Given the description of an element on the screen output the (x, y) to click on. 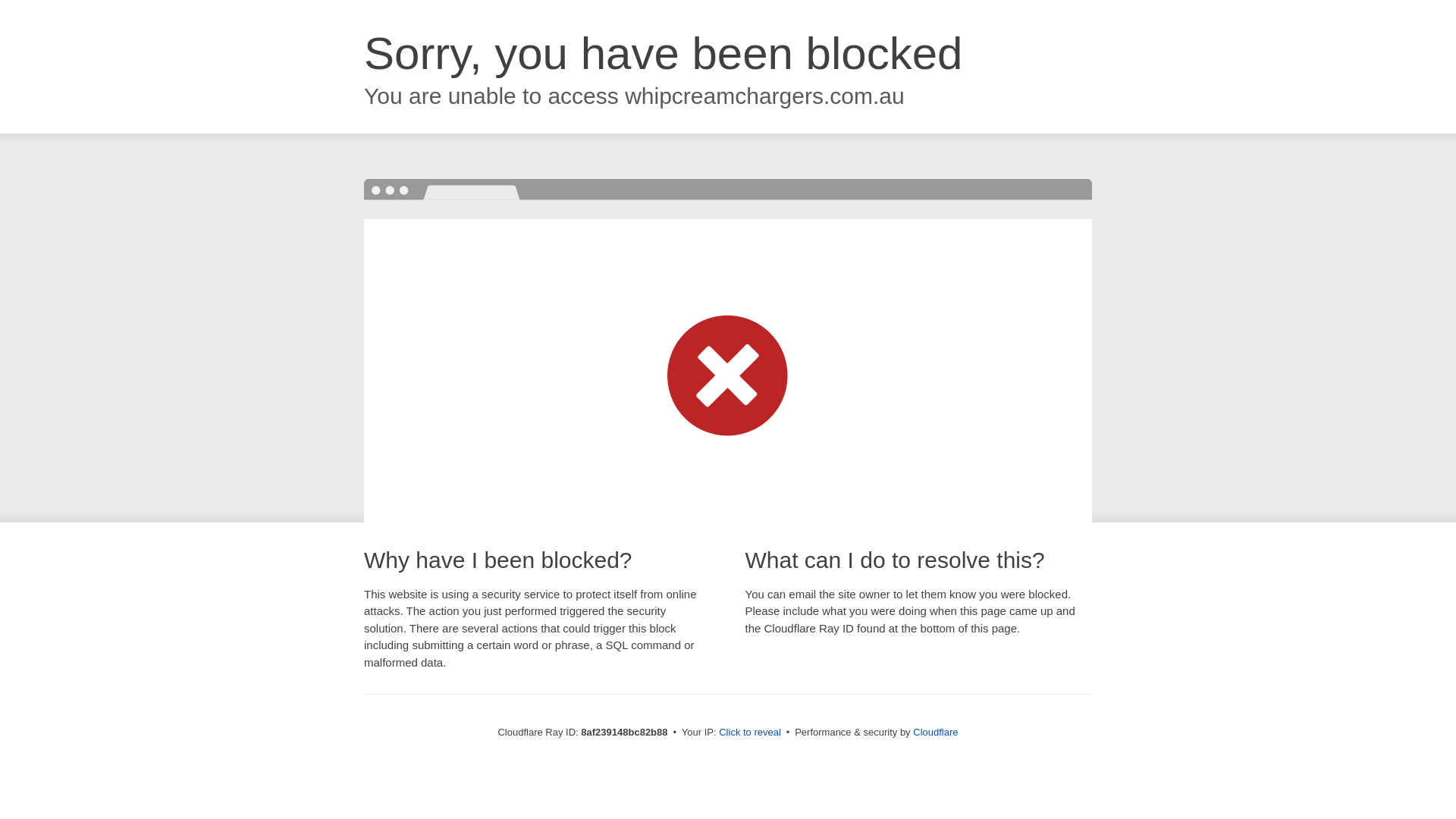
Cloudflare (935, 731)
Click to reveal (749, 732)
